Given the description of an element on the screen output the (x, y) to click on. 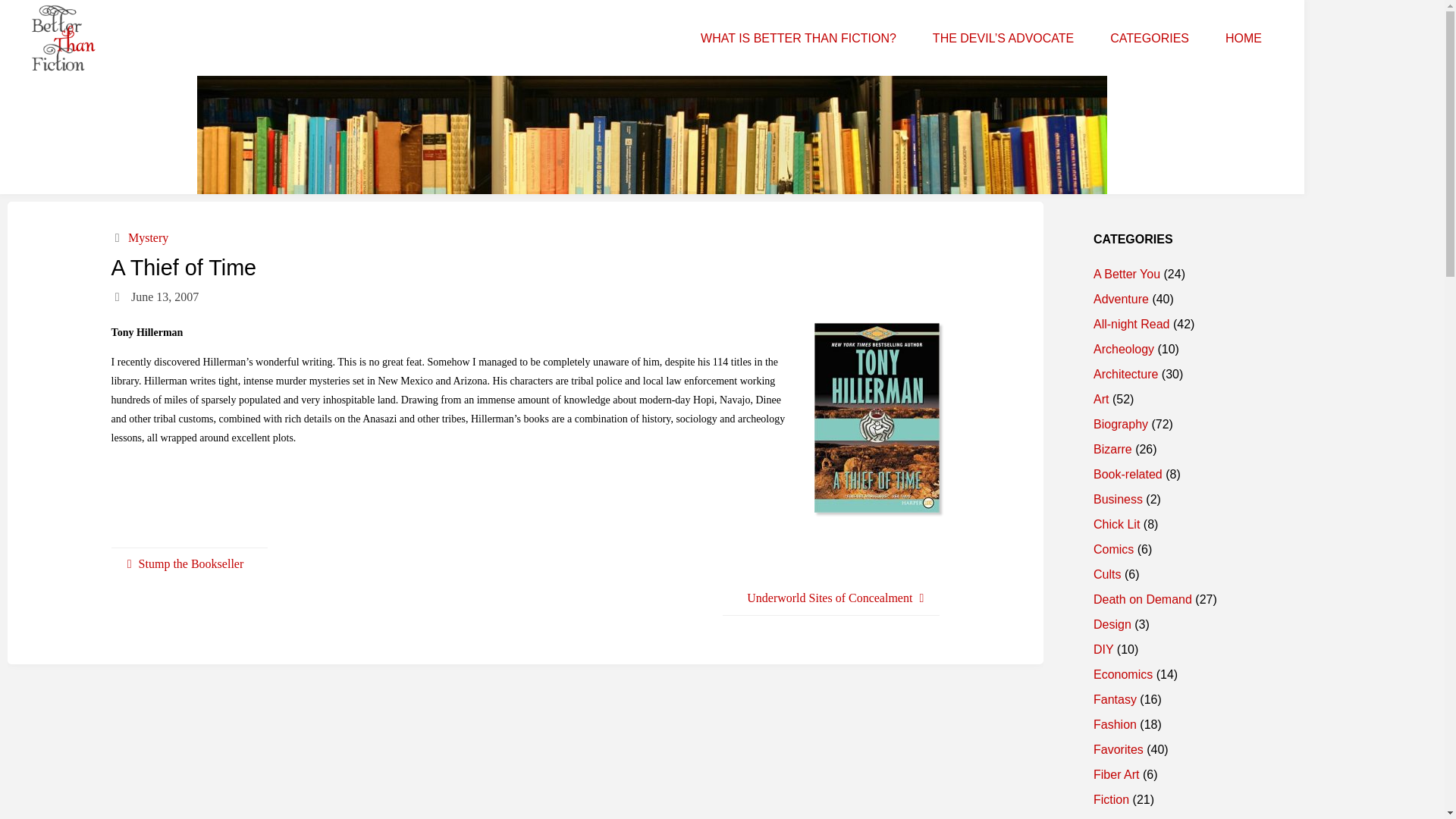
Economics (1123, 674)
Comics (1113, 549)
HOME (1243, 38)
Stump the Bookseller (189, 564)
All-night Read (1131, 323)
WHAT IS BETTER THAN FICTION? (798, 38)
Fantasy (1115, 698)
Art (1100, 399)
Date (118, 296)
Biography (1120, 423)
